Given the description of an element on the screen output the (x, y) to click on. 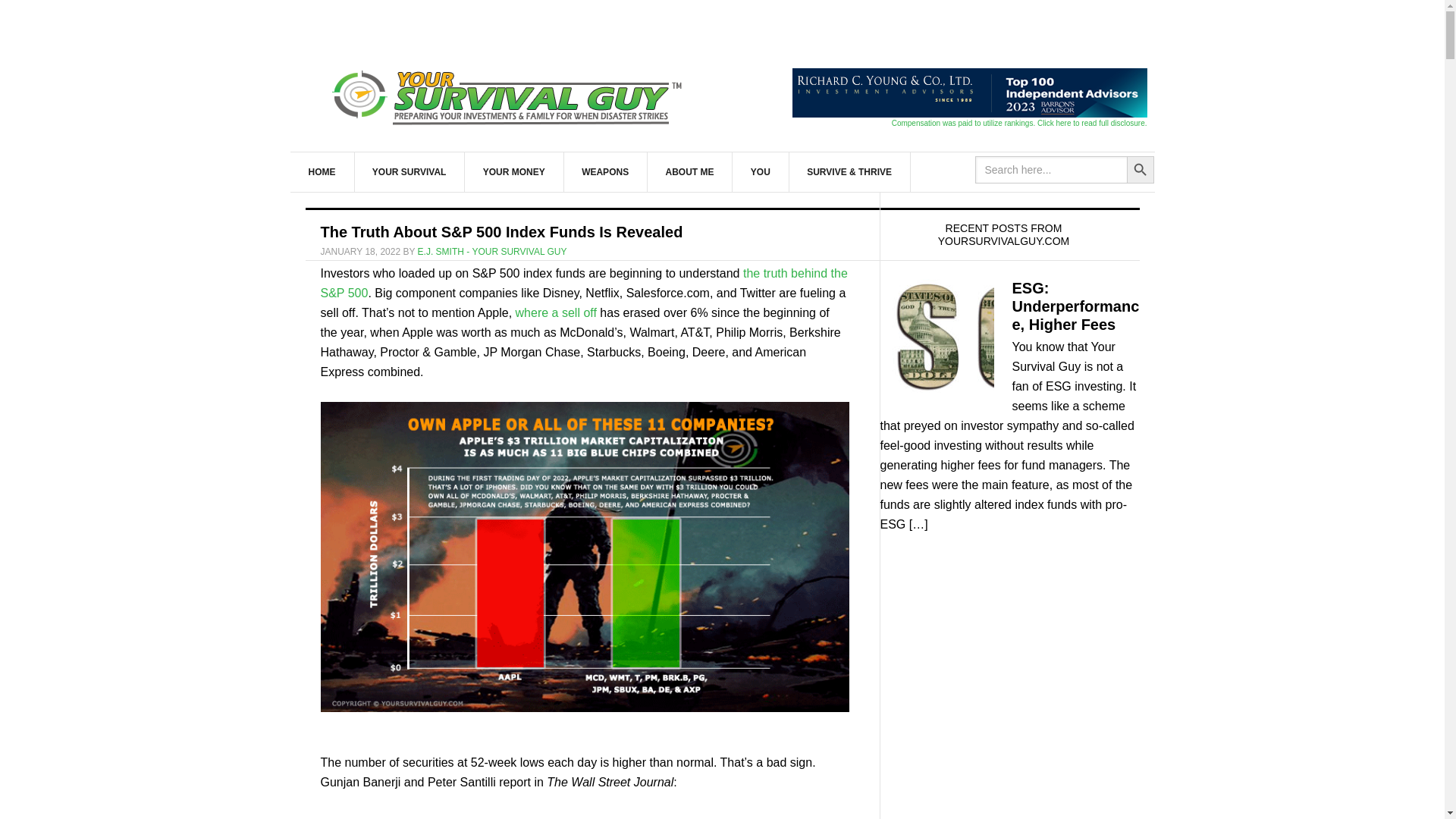
YOUR SURVIVAL (409, 171)
YOUR SURVIVAL GUY (509, 94)
WEAPONS (605, 171)
HOME (321, 171)
YOUR MONEY (514, 171)
